Given the description of an element on the screen output the (x, y) to click on. 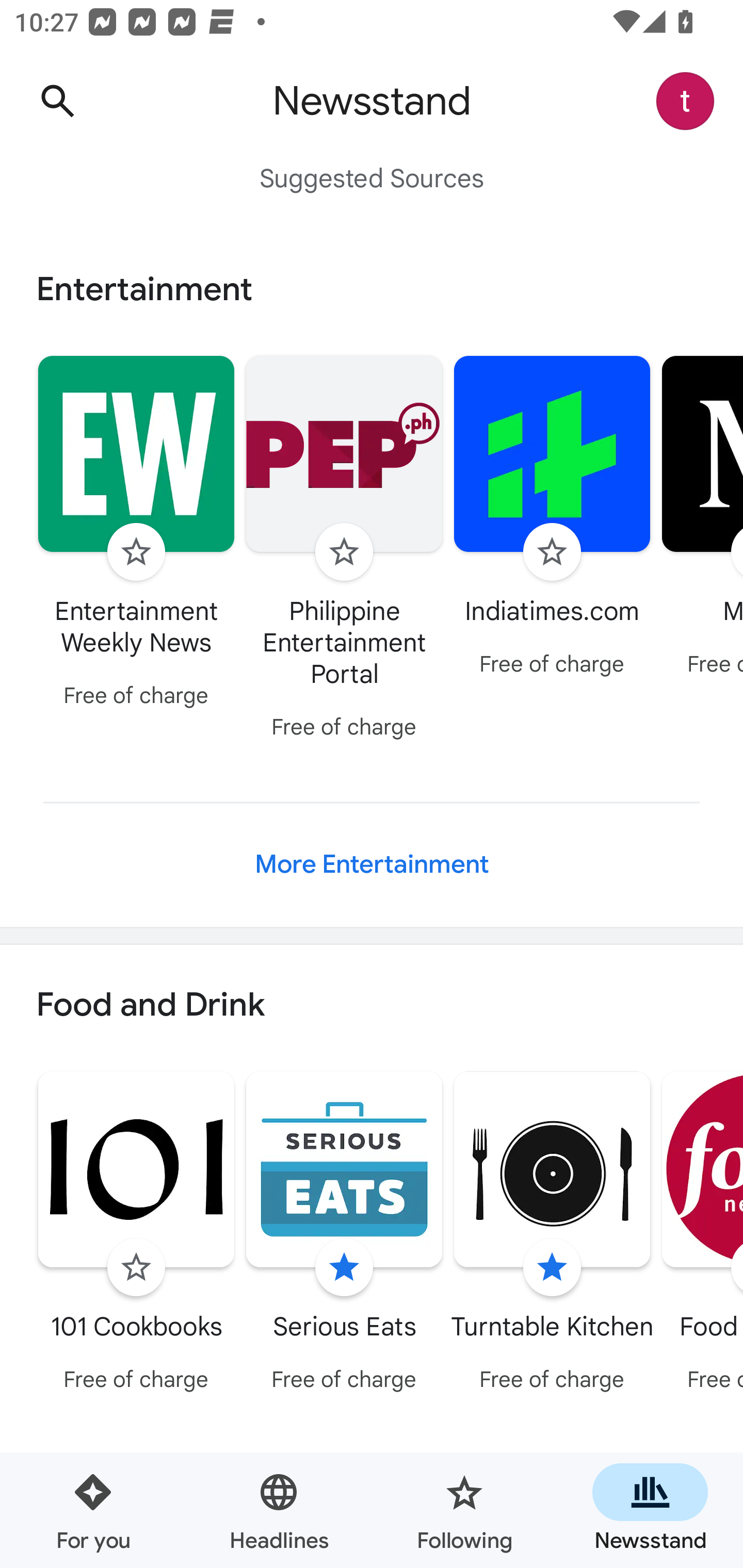
Search (57, 100)
Entertainment (371, 288)
Follow Entertainment Weekly News Free of charge (136, 534)
Follow Indiatimes.com Free of charge (552, 517)
Follow (135, 551)
Follow (343, 551)
Follow (552, 551)
More Entertainment (371, 864)
Food and Drink (371, 1005)
Follow 101 Cookbooks Free of charge (136, 1234)
Unfollow Serious Eats Free of charge (344, 1234)
Unfollow Turntable Kitchen Free of charge (552, 1234)
Follow (135, 1267)
Unfollow (343, 1267)
Unfollow (552, 1267)
For you (92, 1509)
Headlines (278, 1509)
Following (464, 1509)
Newsstand (650, 1509)
